Given the description of an element on the screen output the (x, y) to click on. 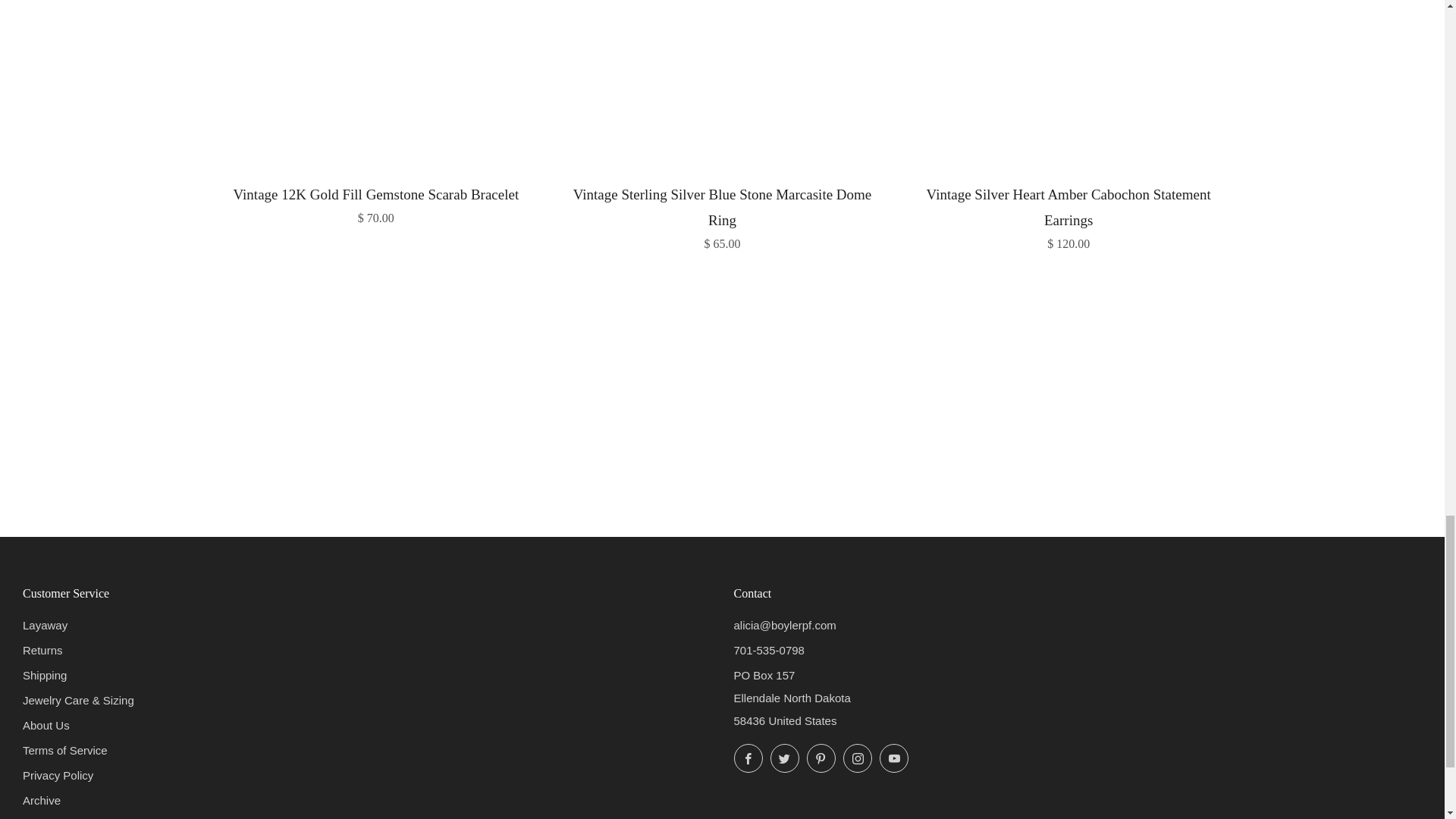
Vintage Silver Heart Amber Cabochon Statement Earrings (1068, 215)
Vintage 12K Gold Fill Gemstone Scarab Bracelet (376, 202)
Vintage Sterling Silver Blue Stone Marcasite Dome Ring (721, 215)
